Given the description of an element on the screen output the (x, y) to click on. 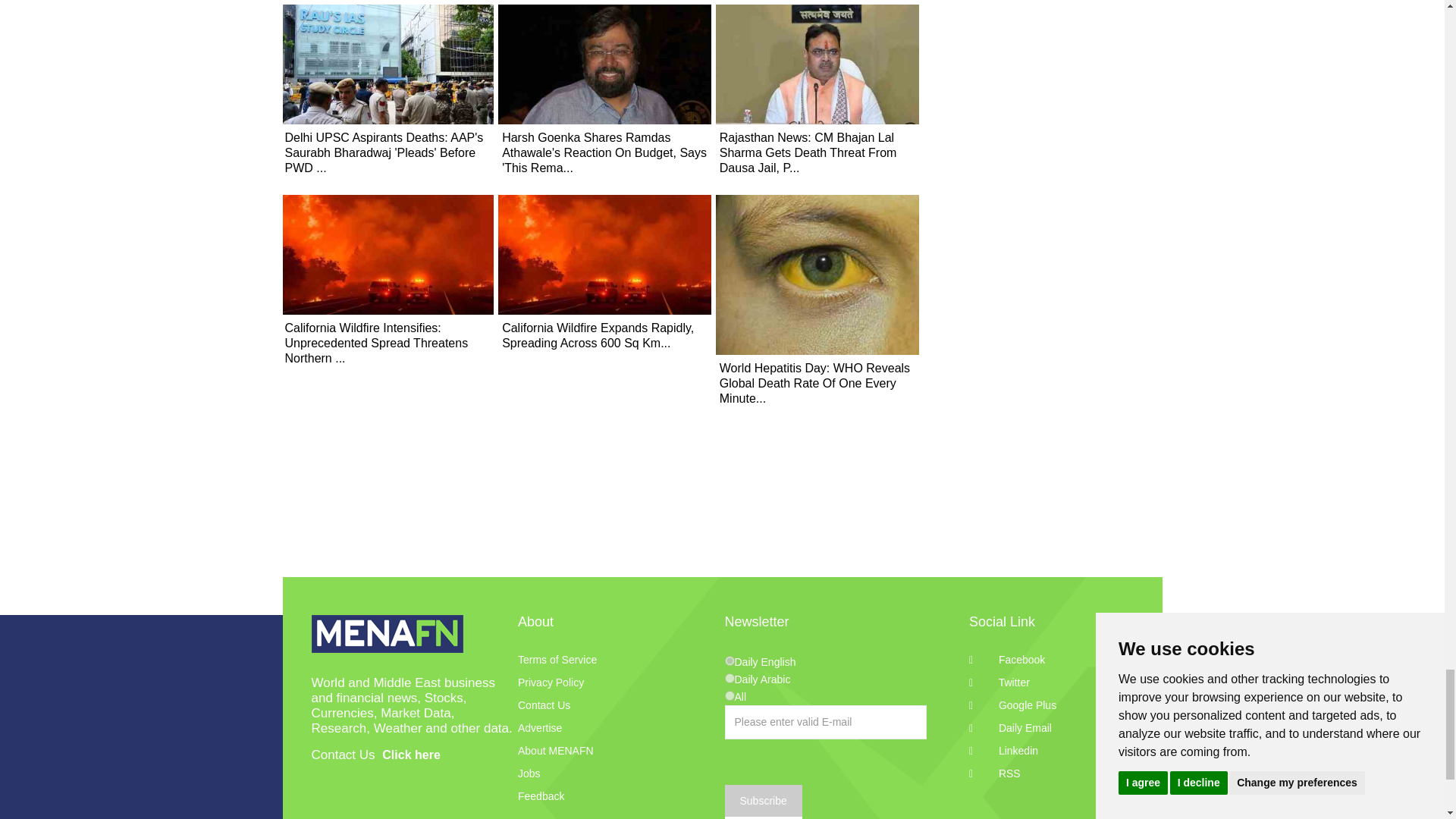
Advertisement (721, 539)
Subscribe (763, 801)
